Given the description of an element on the screen output the (x, y) to click on. 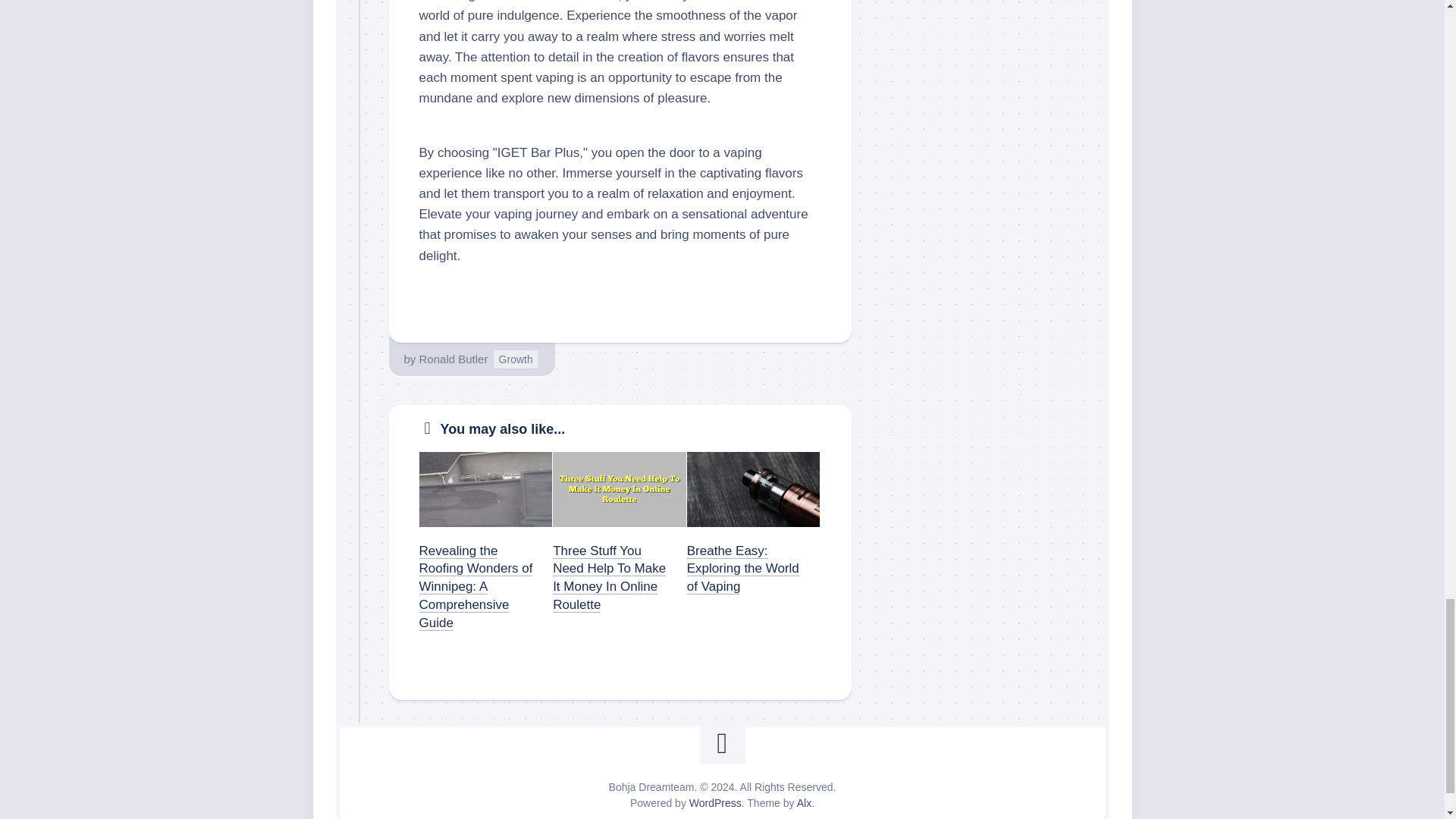
WordPress (714, 802)
Posts by Ronald Butler (453, 358)
Growth (515, 359)
Breathe Easy: Exploring the World of Vaping (743, 567)
Ronald Butler (453, 358)
Alx (803, 802)
